Given the description of an element on the screen output the (x, y) to click on. 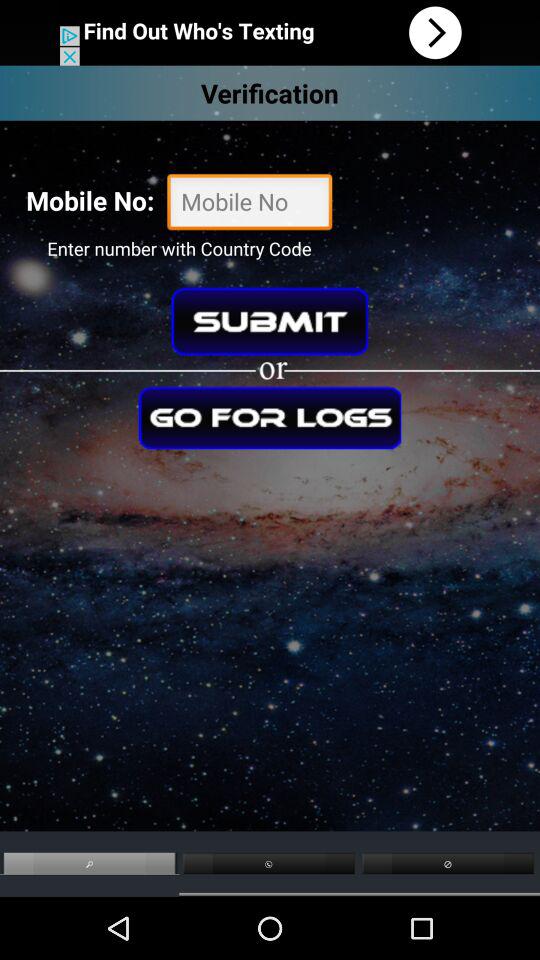
open page (270, 32)
